Given the description of an element on the screen output the (x, y) to click on. 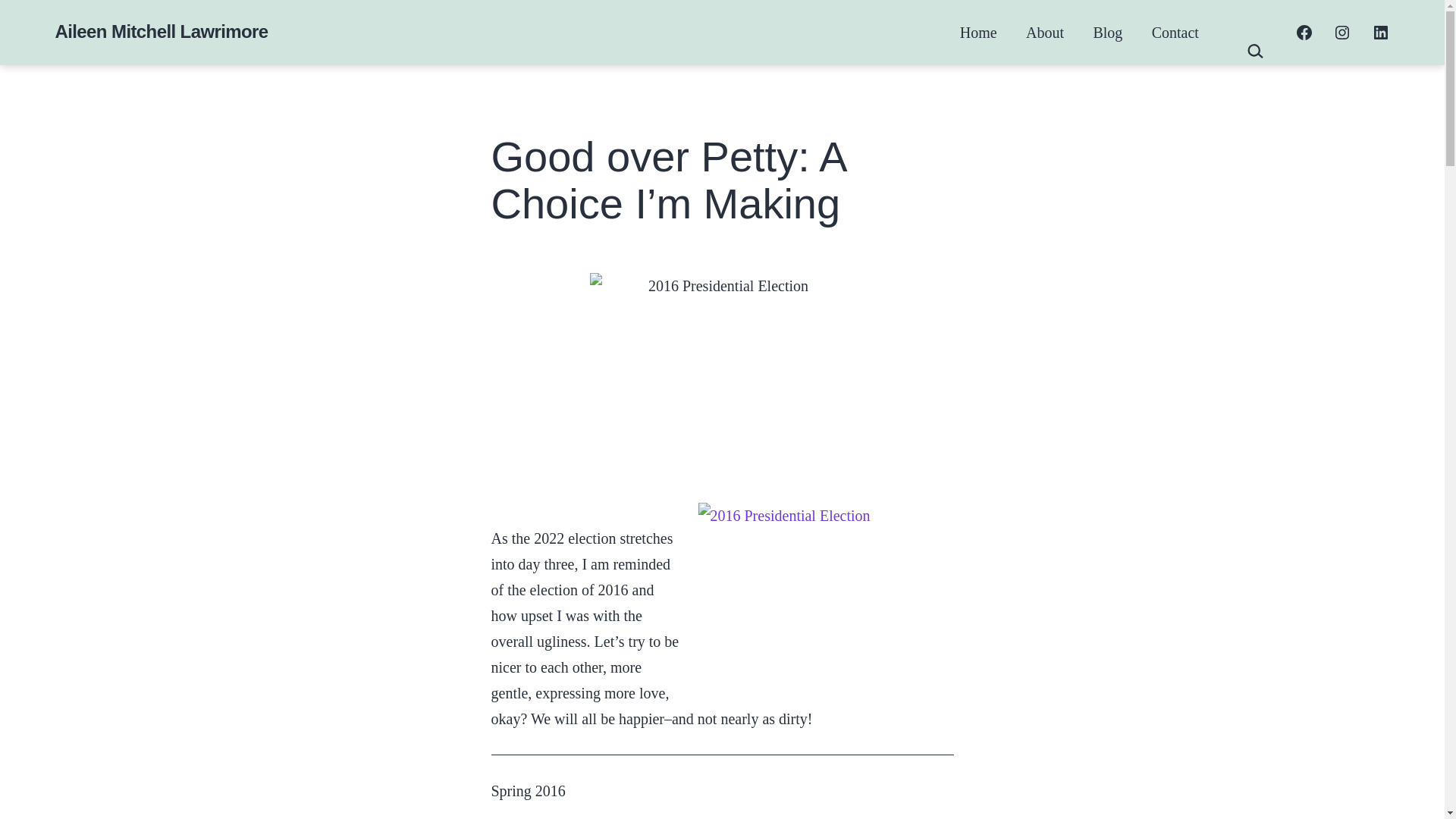
LinkedIn (1380, 32)
Blog (1107, 31)
Home (978, 31)
Aileen Mitchell Lawrimore (161, 31)
Facebook (1304, 32)
Contact (1174, 31)
Instagram (1342, 32)
About (1045, 31)
